Given the description of an element on the screen output the (x, y) to click on. 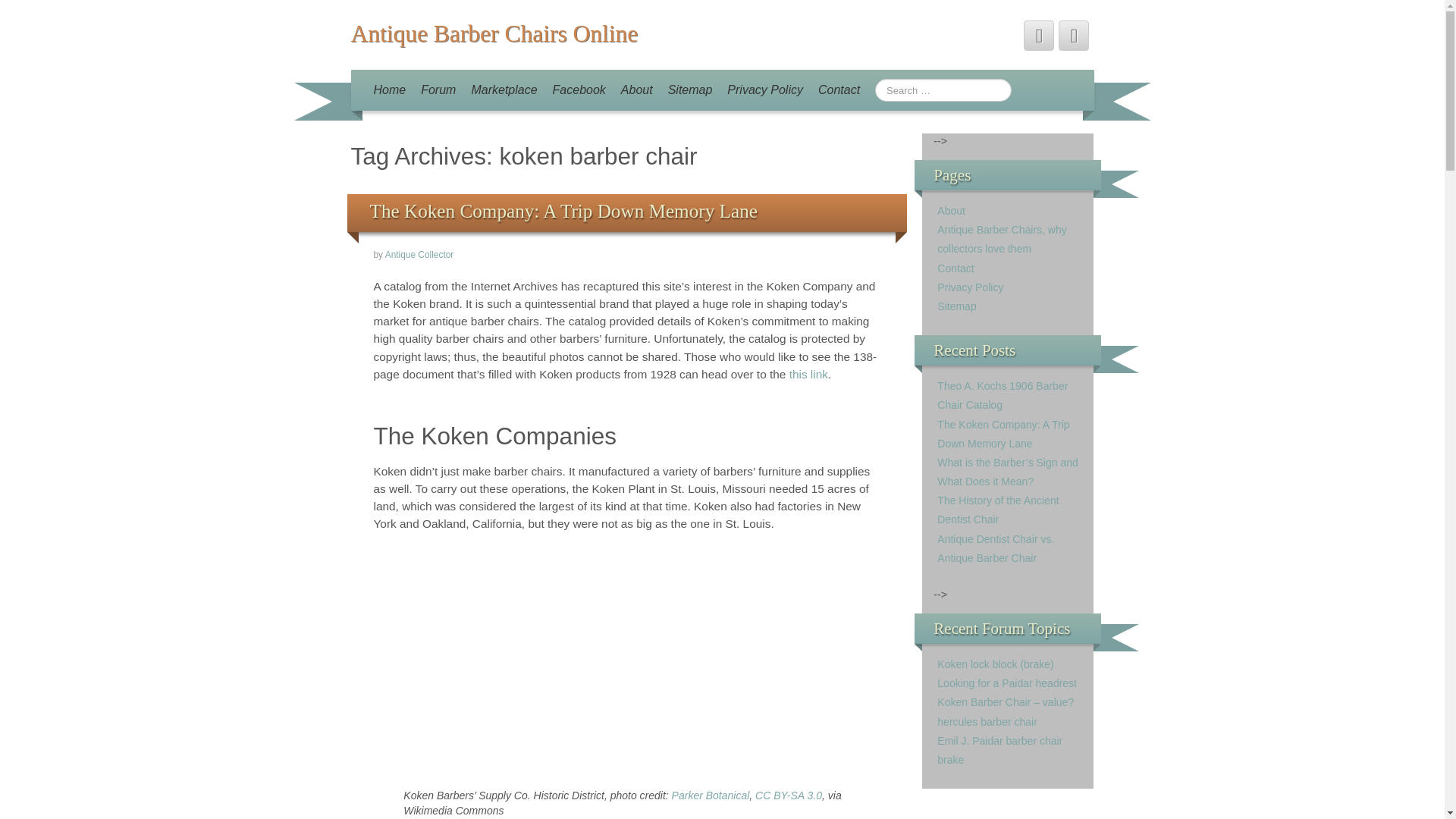
Contact (838, 89)
Privacy Policy (970, 287)
View all posts by Antique Collector (419, 254)
CC BY-SA 3.0 (788, 795)
hercules barber chair (986, 721)
Marketplace (503, 89)
Antique Barber Chairs Online (493, 33)
Forum (438, 89)
Sitemap (956, 306)
Theo A. Kochs 1906 Barber Chair Catalog (1002, 395)
